Given the description of an element on the screen output the (x, y) to click on. 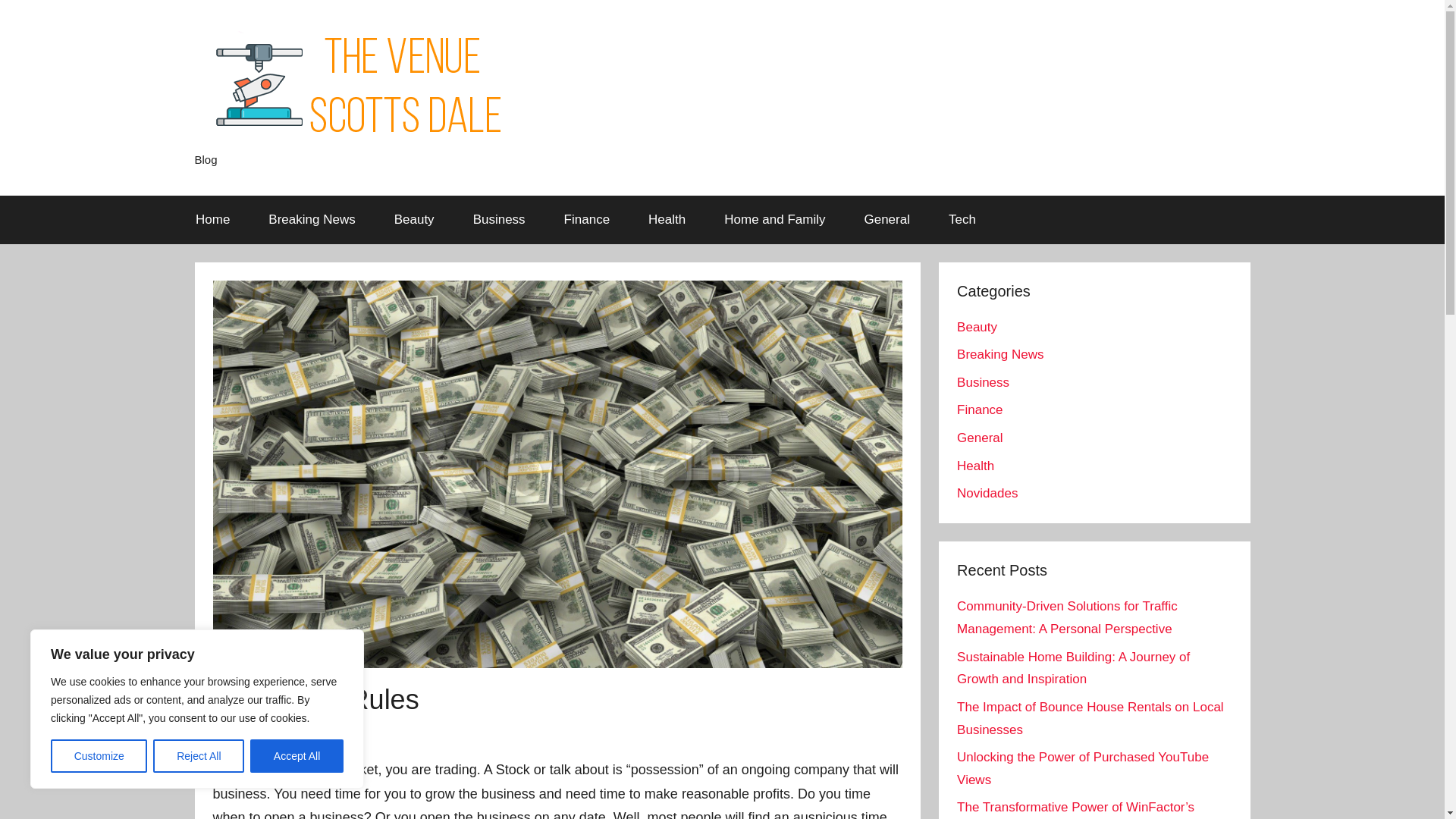
Finance (979, 409)
Beauty (413, 219)
Home and Family (774, 219)
Reject All (198, 756)
Finance (586, 219)
Home (212, 219)
Customize (98, 756)
Business (982, 382)
Health (666, 219)
General (979, 437)
